Given the description of an element on the screen output the (x, y) to click on. 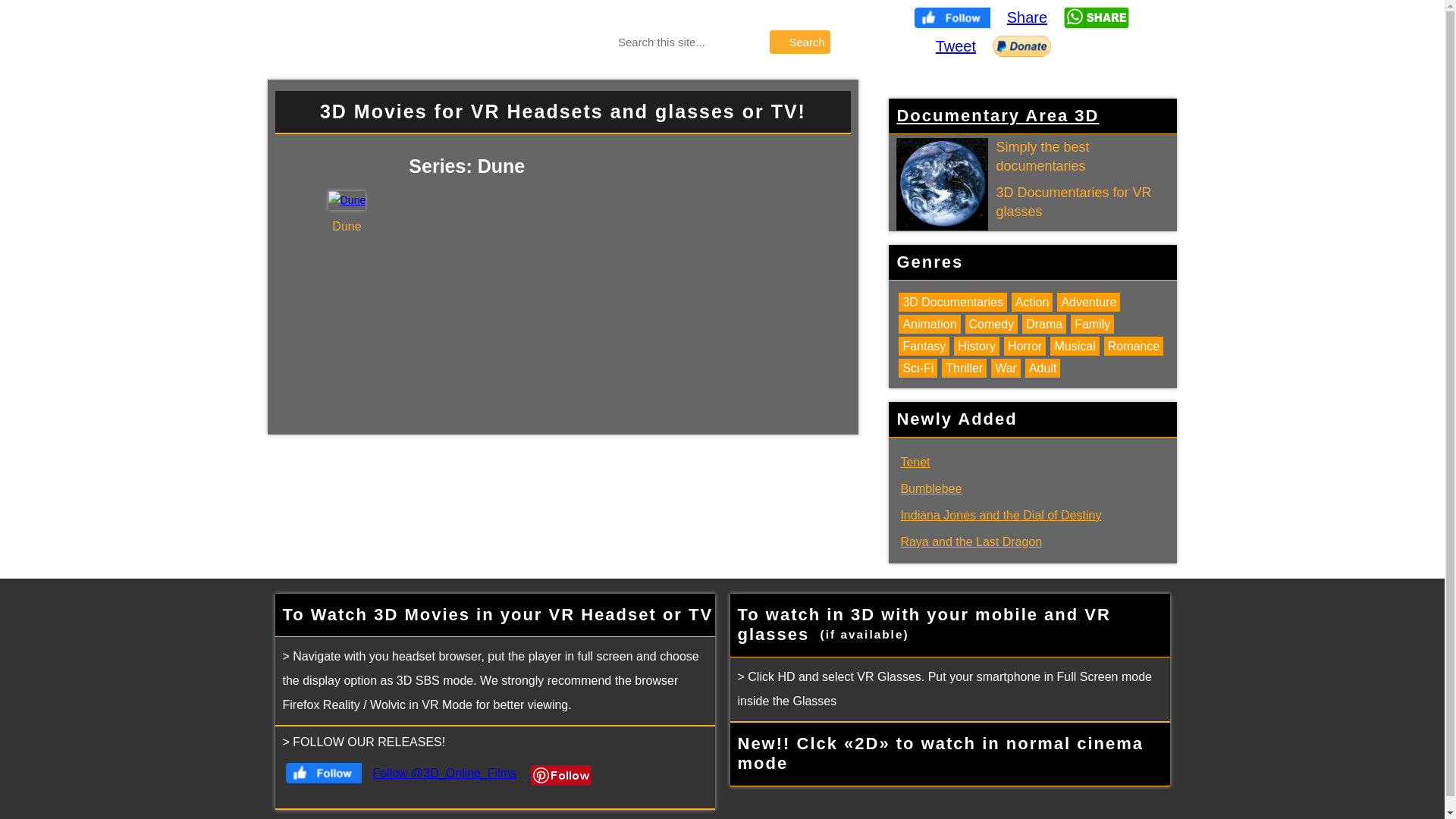
In this awesome website you can watch 3D movies!! Element type: hover (1096, 17)
Dune Element type: hover (346, 200)
Romance Element type: text (1133, 345)
Thriller Element type: text (963, 367)
Adult Element type: text (1042, 367)
Share Element type: text (1027, 17)
Dune Element type: text (346, 226)
Follow us on Facebook Element type: hover (323, 772)
Indiana Jones and the Dial of Destiny Element type: text (1000, 514)
Raya and the Last Dragon Element type: text (970, 541)
Tenet Element type: text (914, 461)
Follow us on Facebook Element type: hover (952, 17)
Family Element type: text (1091, 323)
Bumblebee Element type: text (930, 488)
Follow @3D_Online_Films Element type: text (444, 773)
Comedy Element type: text (991, 323)
Search Element type: text (799, 41)
Documentary Area 3D Element type: text (997, 115)
War Element type: text (1005, 367)
Fantasy Element type: text (923, 345)
Horror Element type: text (1024, 345)
Tweet Element type: text (955, 45)
History Element type: text (976, 345)
Adventure Element type: text (1088, 301)
Drama Element type: text (1044, 323)
Animation Element type: text (929, 323)
Donate with PayPal Element type: hover (1021, 45)
Home Element type: hover (418, 37)
3D Documentaries Element type: text (952, 301)
Action Element type: text (1031, 301)
Simply the best Documentaries Element type: hover (941, 184)
Sci-Fi Element type: text (917, 367)
Musical Element type: text (1074, 345)
